Given the description of an element on the screen output the (x, y) to click on. 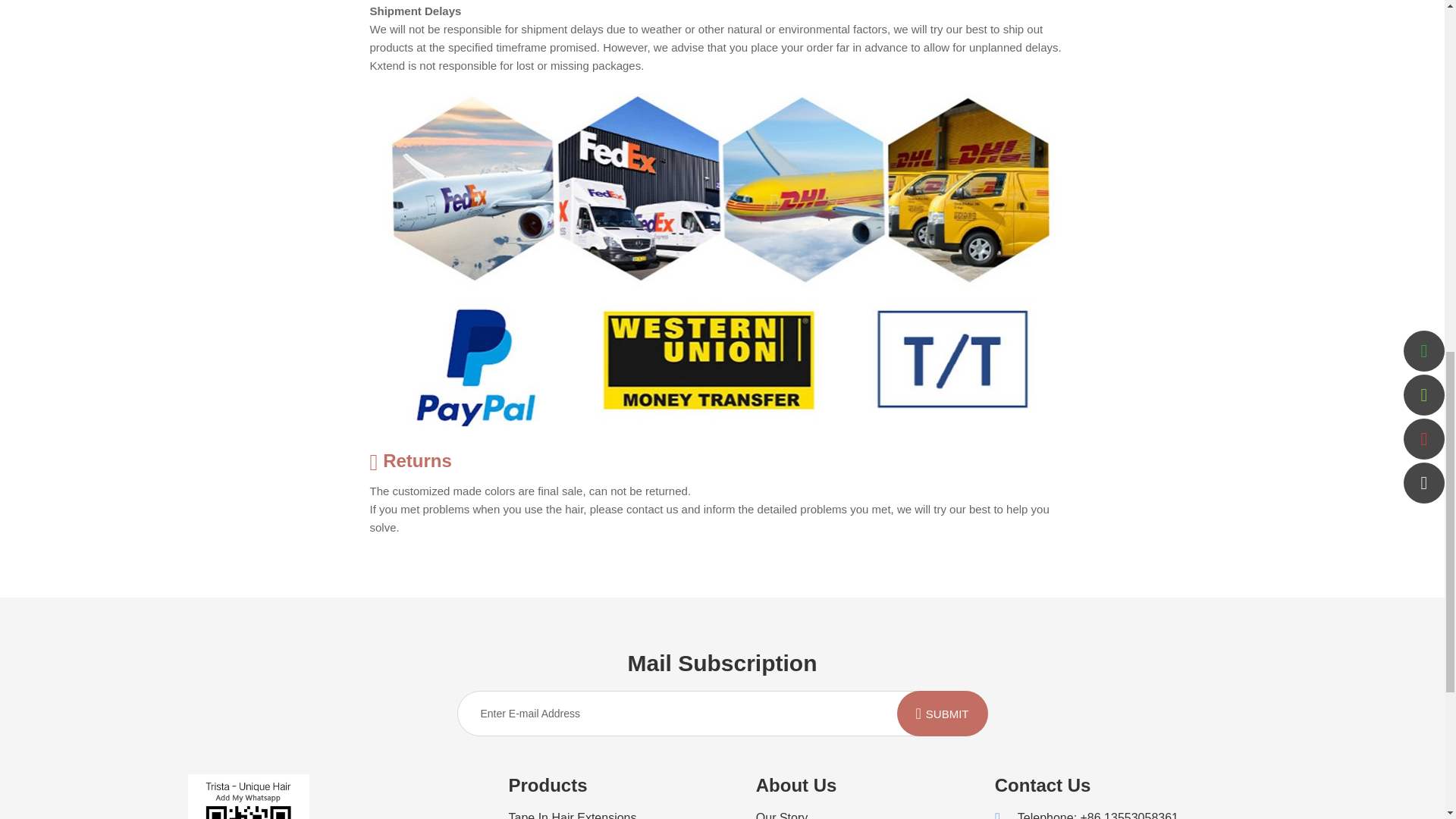
SUBMIT (941, 713)
